Given the description of an element on the screen output the (x, y) to click on. 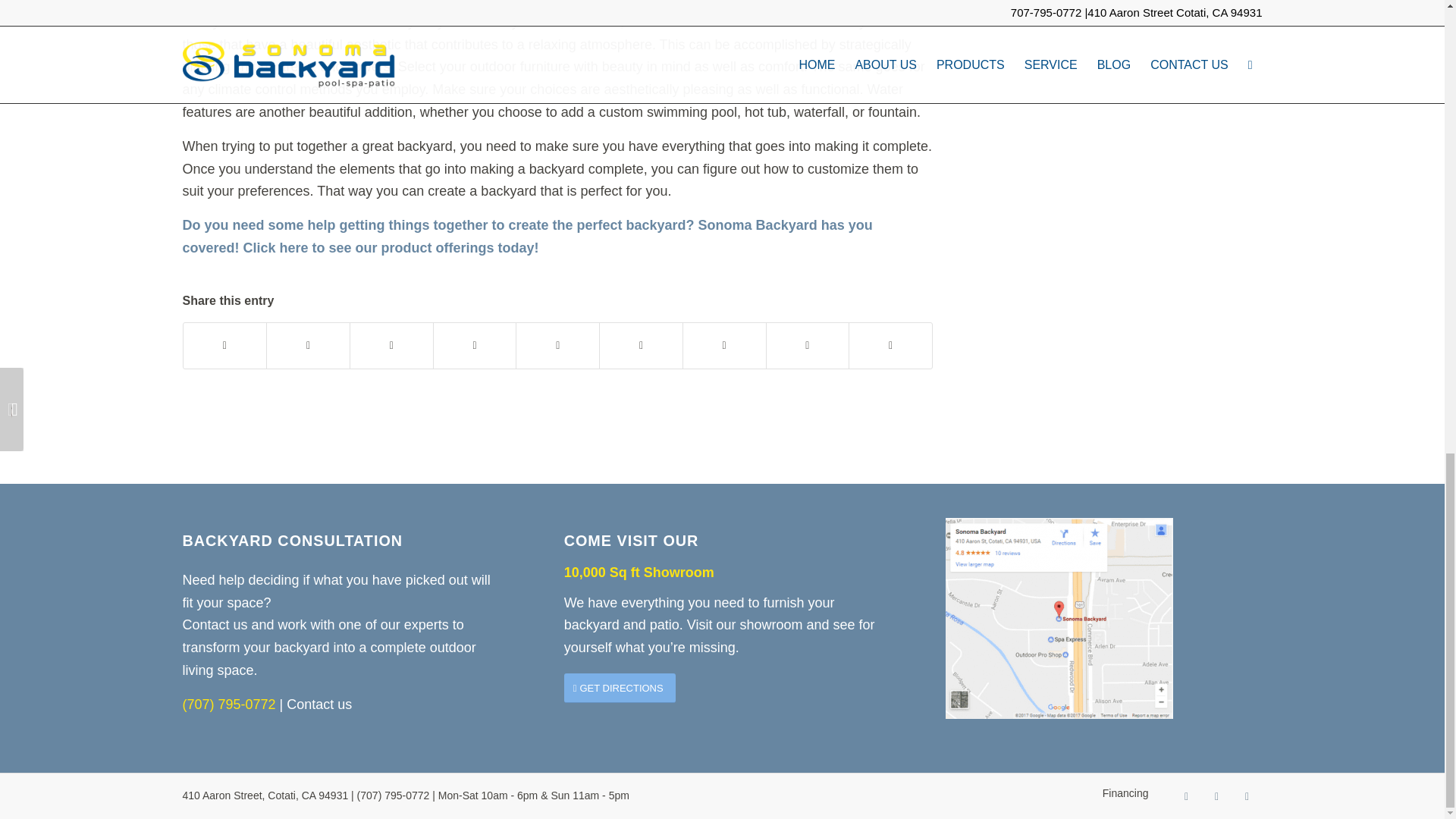
Facebook (1185, 796)
here (293, 247)
